Given the description of an element on the screen output the (x, y) to click on. 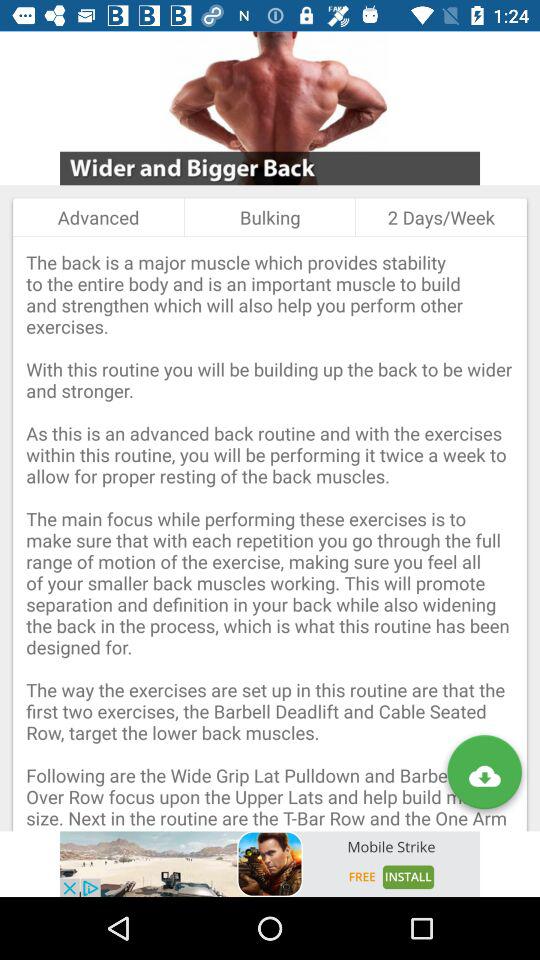
choose the the back is (269, 534)
